Given the description of an element on the screen output the (x, y) to click on. 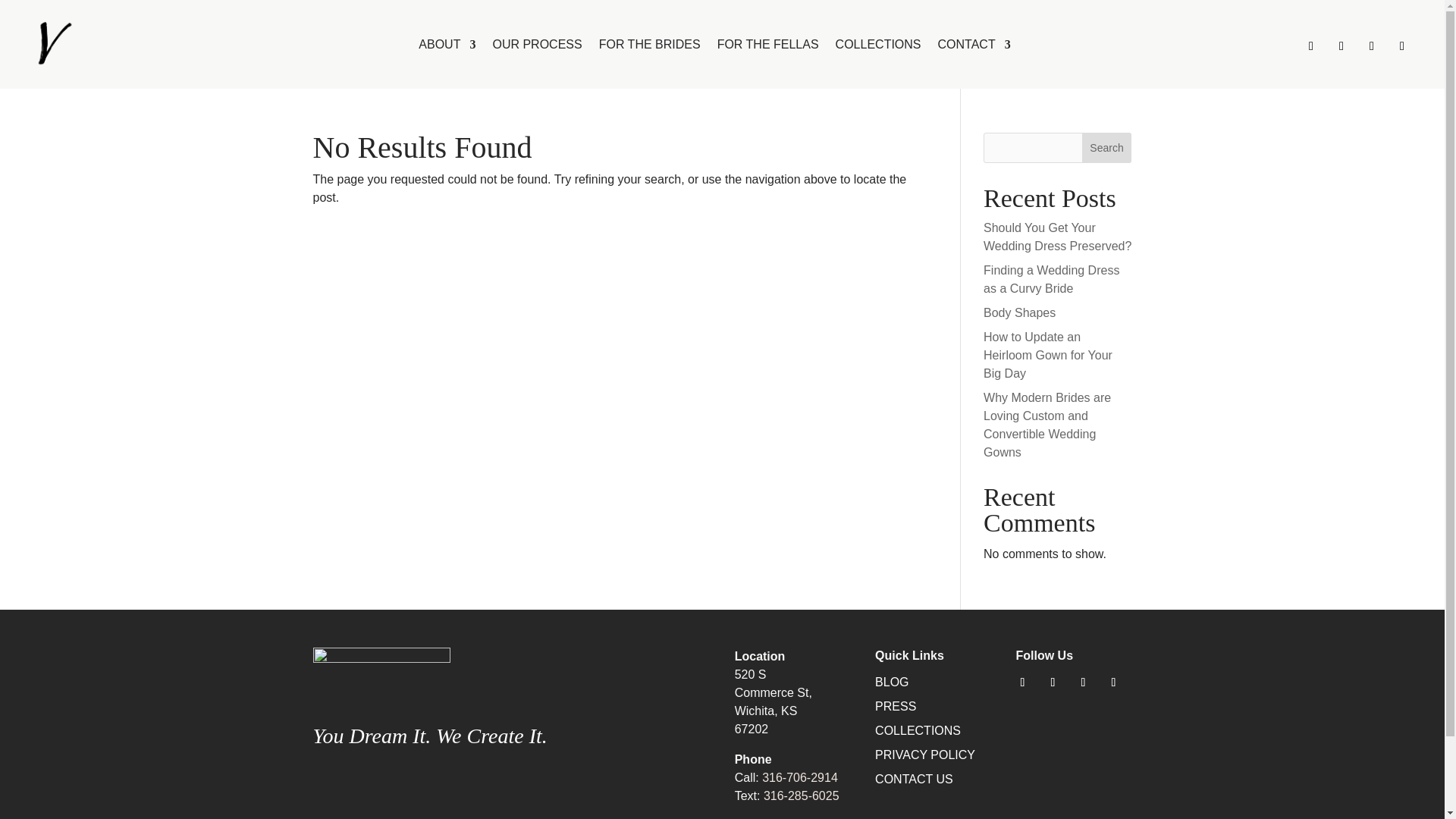
Finding a Wedding Dress as a Curvy Bride (1051, 278)
VANYA-MARK-BLK (49, 43)
FOR THE BRIDES (649, 47)
VANYA DESIGNS - BRAND GUIDELINES 1 (381, 680)
Follow on TikTok (1401, 46)
Follow on Instagram (1310, 46)
Body Shapes (1019, 312)
Follow on TikTok (1112, 682)
316-285-6025 (801, 795)
